Given the description of an element on the screen output the (x, y) to click on. 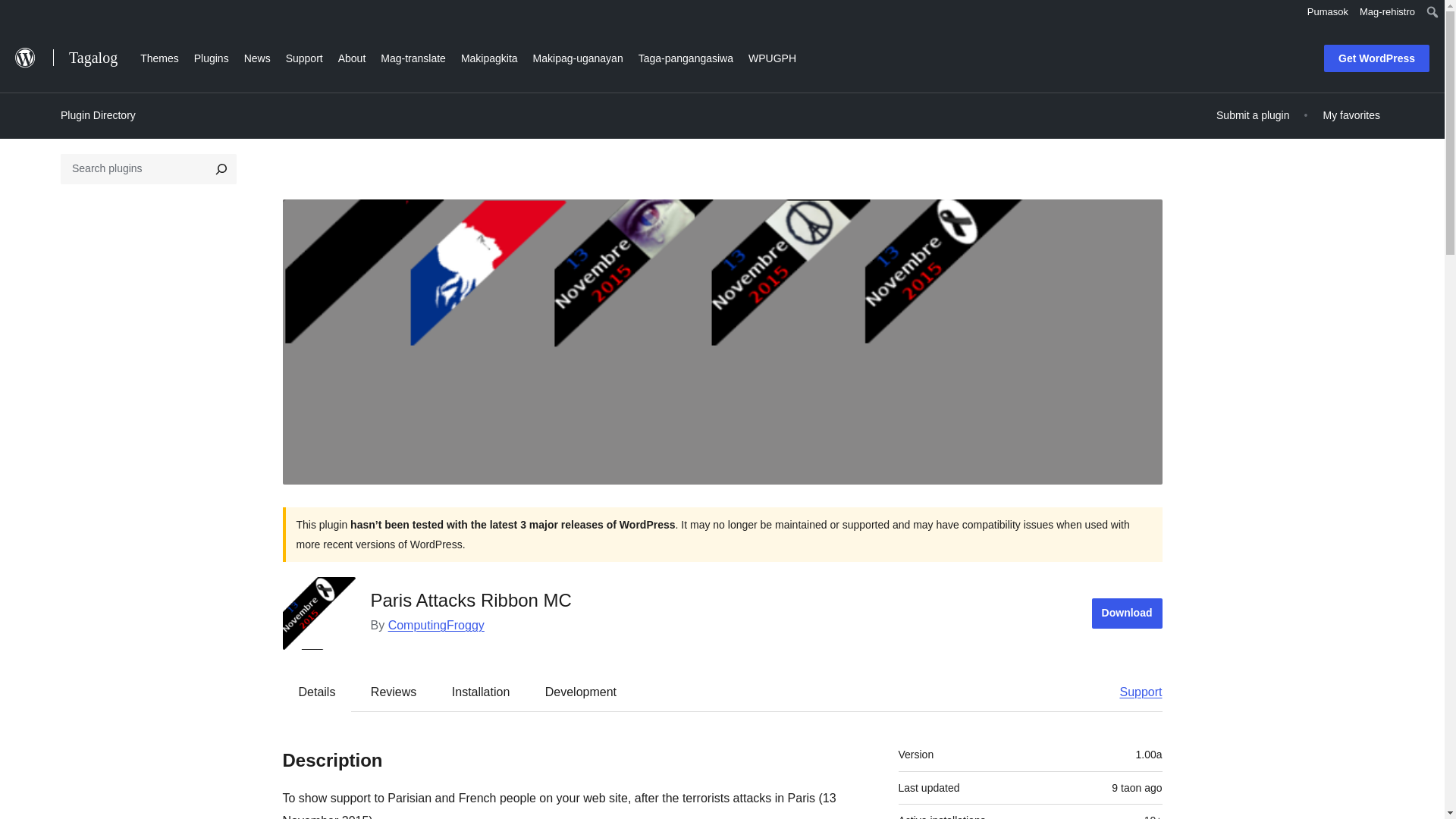
Reviews (392, 692)
Details (316, 692)
Maghanap (24, 13)
Plugin Directory (97, 115)
Taga-pangangasiwa (685, 56)
My favorites (1351, 115)
Get WordPress (1376, 58)
Makipagkita (488, 56)
Makipag-uganayan (577, 56)
Submit a plugin (1253, 115)
Support (1132, 692)
Pumasok (1327, 12)
Installation (480, 692)
ComputingFroggy (436, 625)
Mag-rehistro (1387, 12)
